Given the description of an element on the screen output the (x, y) to click on. 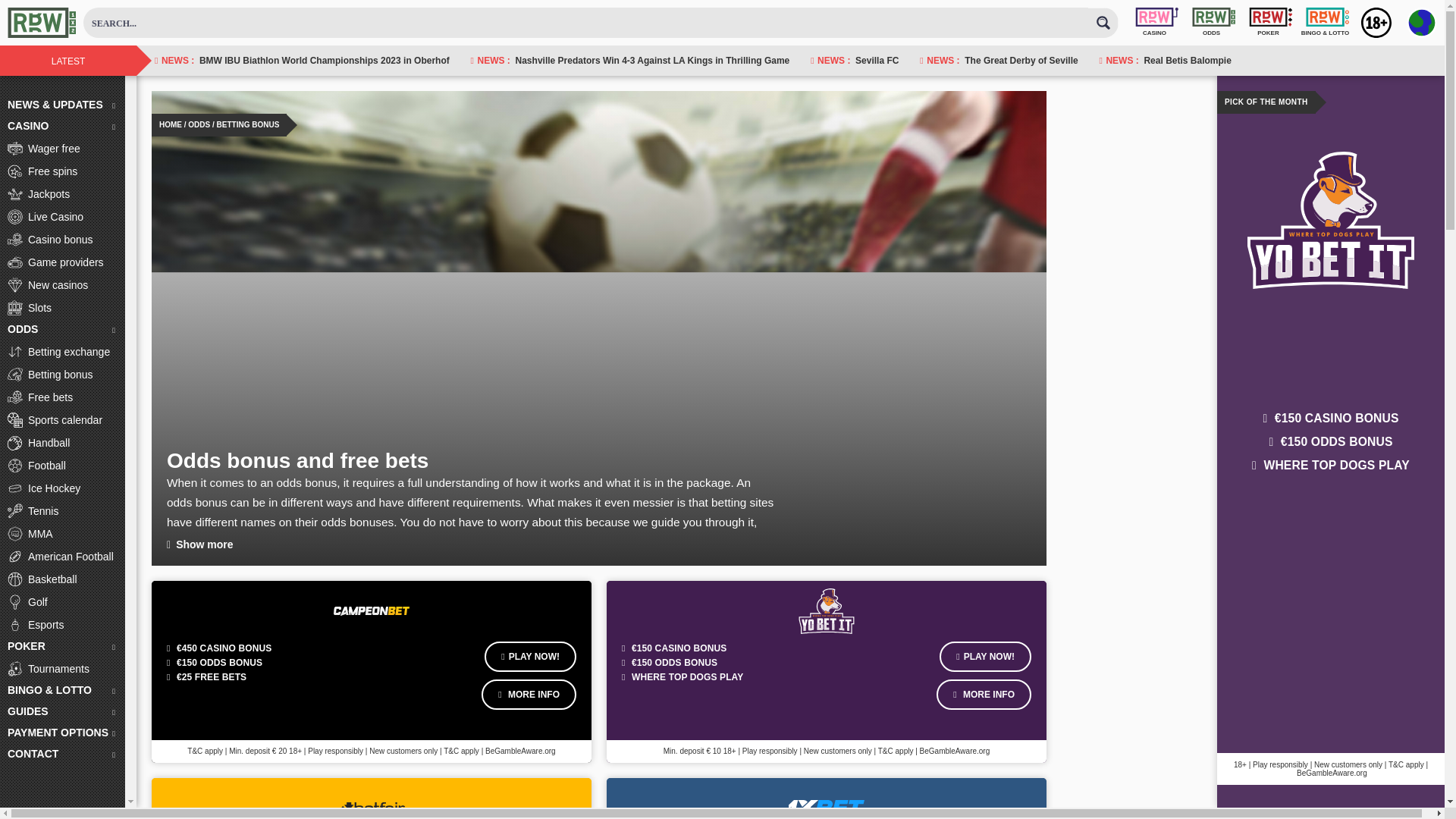
Handball (62, 442)
Slots (62, 307)
Betting exchange (62, 351)
CONTACT (62, 753)
Game providers (62, 261)
Free spins (62, 170)
PAYMENT OPTIONS (62, 732)
New casinos (62, 284)
